Given the description of an element on the screen output the (x, y) to click on. 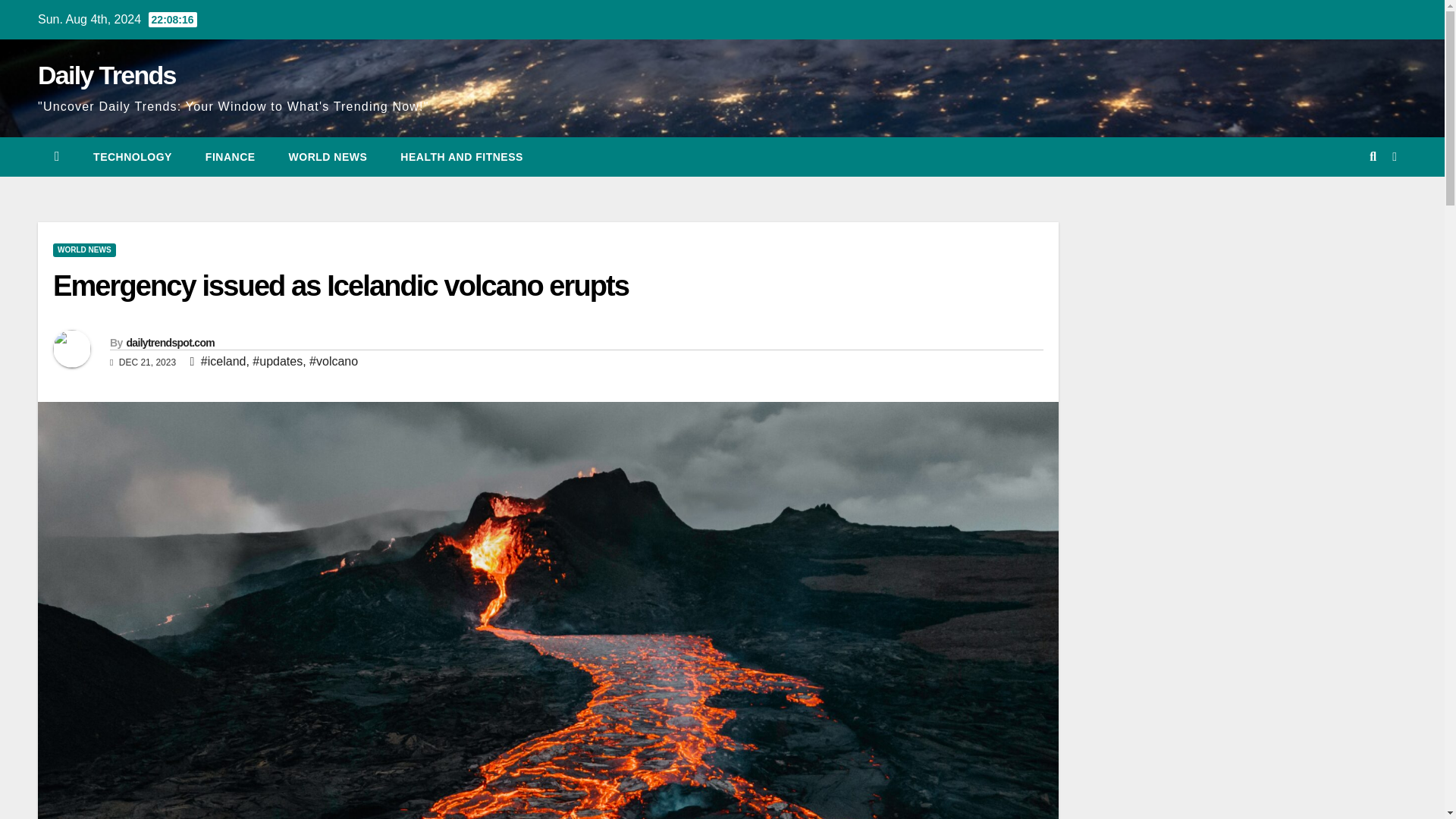
TECHNOLOGY (133, 156)
FINANCE (230, 156)
Finance (230, 156)
Daily Trends (106, 74)
WORLD NEWS (84, 250)
Emergency issued as Icelandic volcano erupts (340, 286)
Health and Fitness (461, 156)
World News (328, 156)
Permalink to: Emergency issued as Icelandic volcano erupts (340, 286)
WORLD NEWS (328, 156)
dailytrendspot.com (169, 342)
HEALTH AND FITNESS (461, 156)
Technology (133, 156)
